Given the description of an element on the screen output the (x, y) to click on. 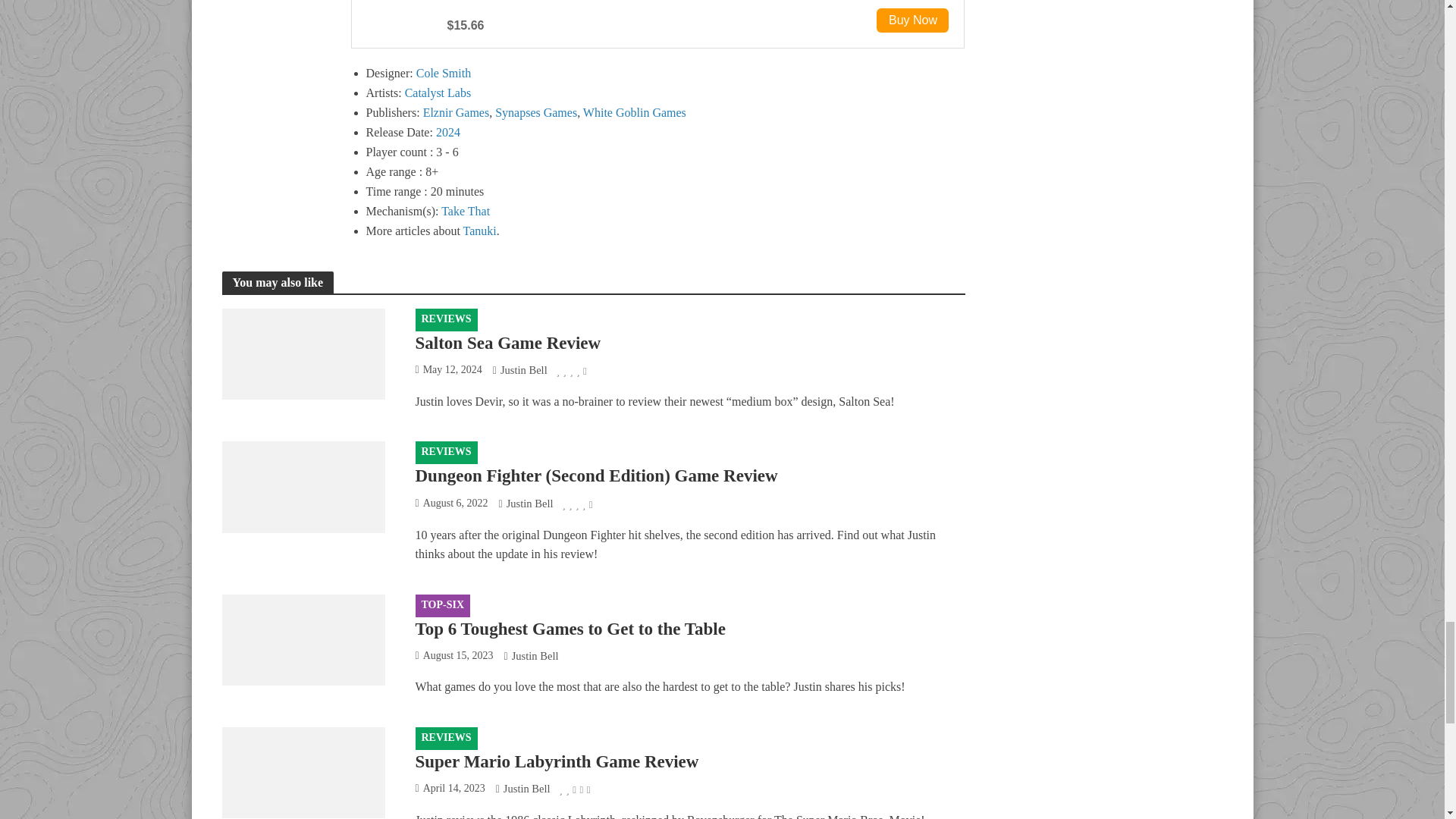
Salton Sea Game Review (302, 351)
Top 6 Toughest Games to Get to the Table (302, 638)
Super Mario Labyrinth Game Review (302, 770)
